Given the description of an element on the screen output the (x, y) to click on. 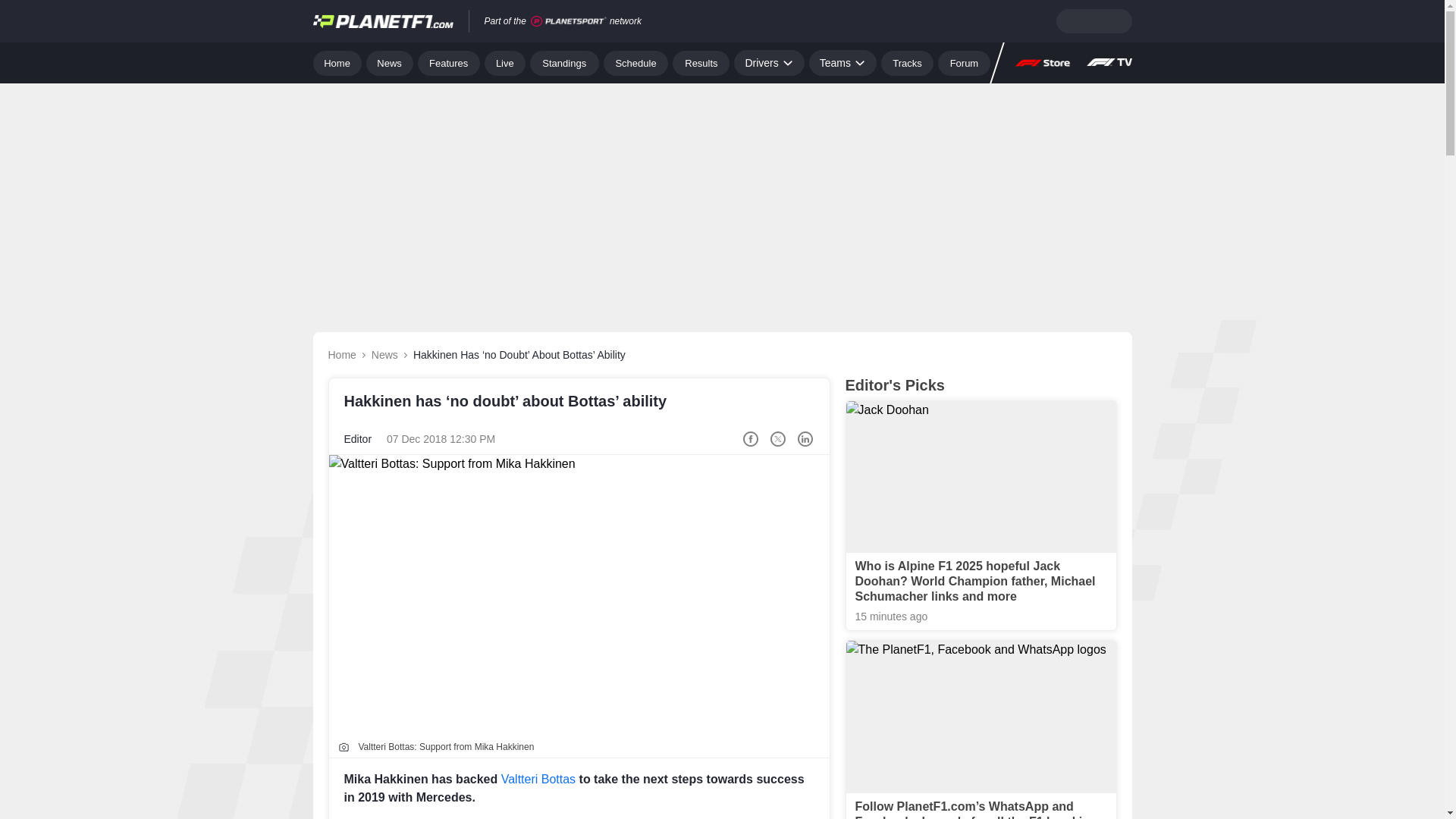
Standings (563, 62)
Results (700, 62)
Live (504, 62)
Drivers (768, 62)
Schedule (636, 62)
Teams (842, 62)
News (389, 62)
Features (448, 62)
Home (337, 62)
